Given the description of an element on the screen output the (x, y) to click on. 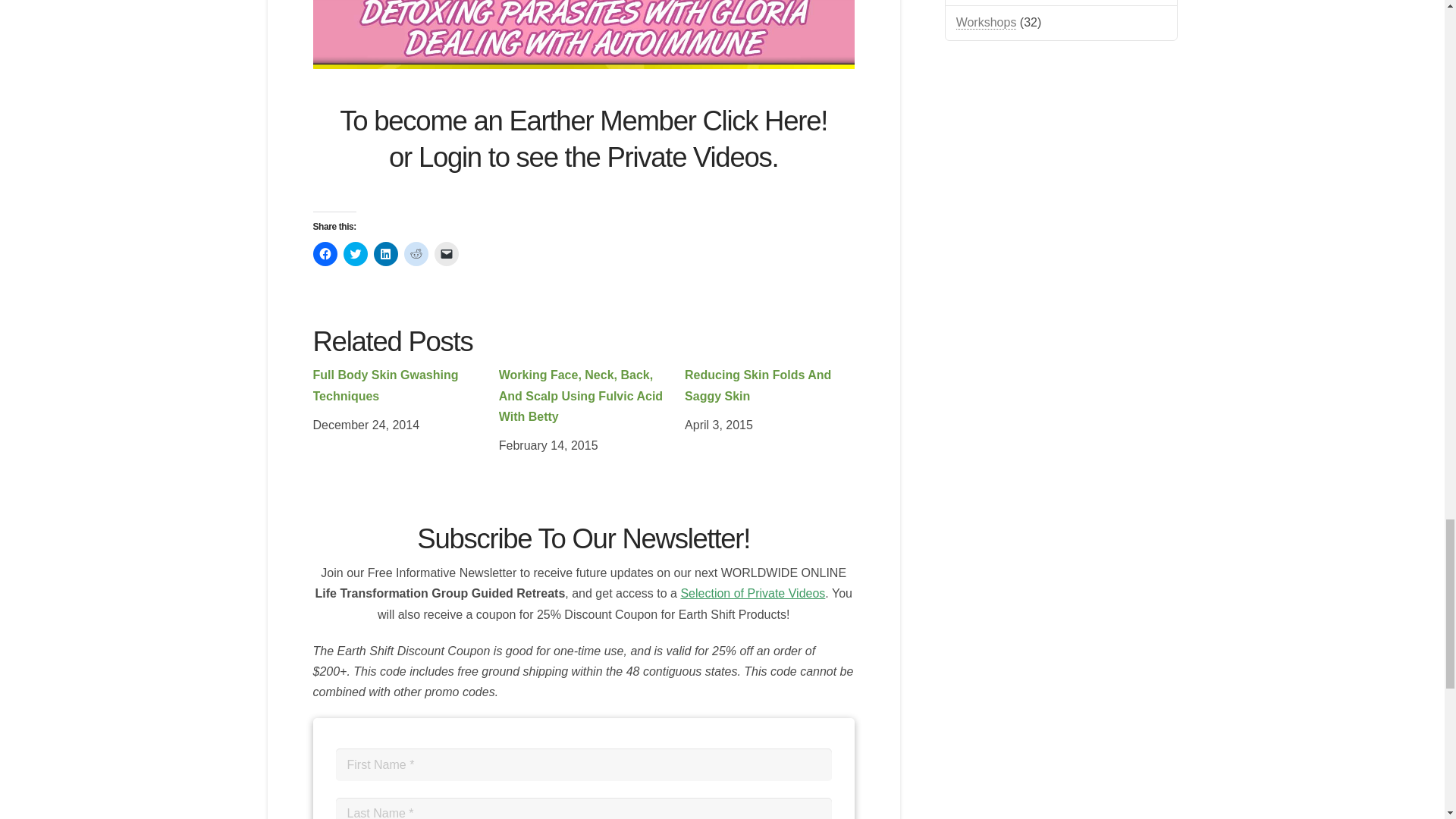
Click to share on Reddit (415, 253)
Click to email a link to a friend (445, 253)
Click to share on Facebook (324, 253)
Click to share on Twitter (354, 253)
Click to share on LinkedIn (384, 253)
